Given the description of an element on the screen output the (x, y) to click on. 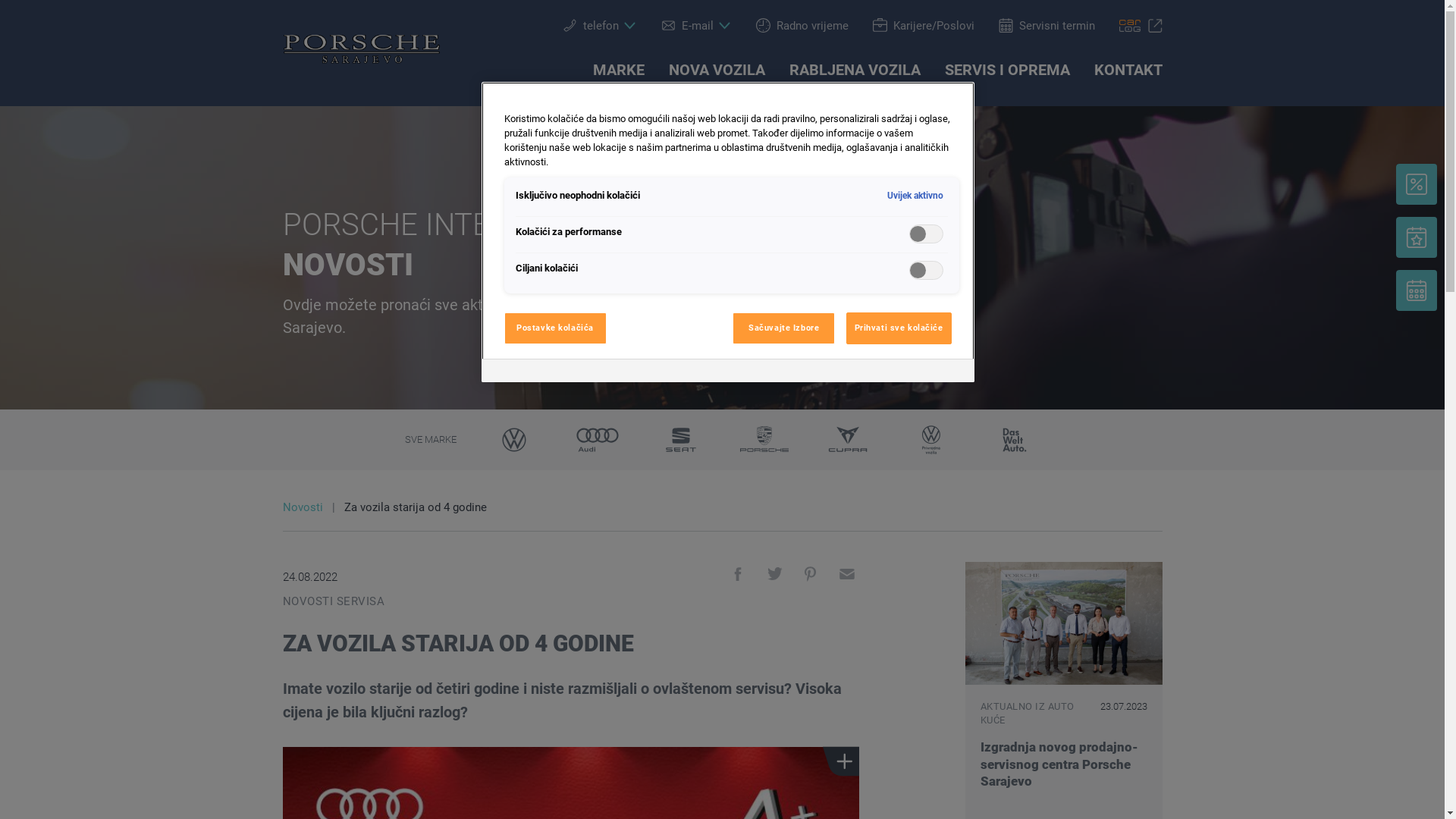
Share via Email Element type: hover (846, 577)
Karijere/Poslovi Element type: text (922, 25)
telefon Element type: text (599, 25)
Radno vrijeme Element type: text (801, 25)
Share on Twitter Element type: hover (773, 577)
Novosti Element type: text (312, 507)
E-mail Element type: text (696, 25)
Share on Facebook Element type: hover (736, 577)
Porsche Inter Auto BH d.o.o. Sarajevo Element type: hover (360, 50)
Share on Pinterest Element type: hover (809, 577)
Servisni termin Element type: text (1045, 25)
SVE MARKE Element type: text (430, 439)
